Given the description of an element on the screen output the (x, y) to click on. 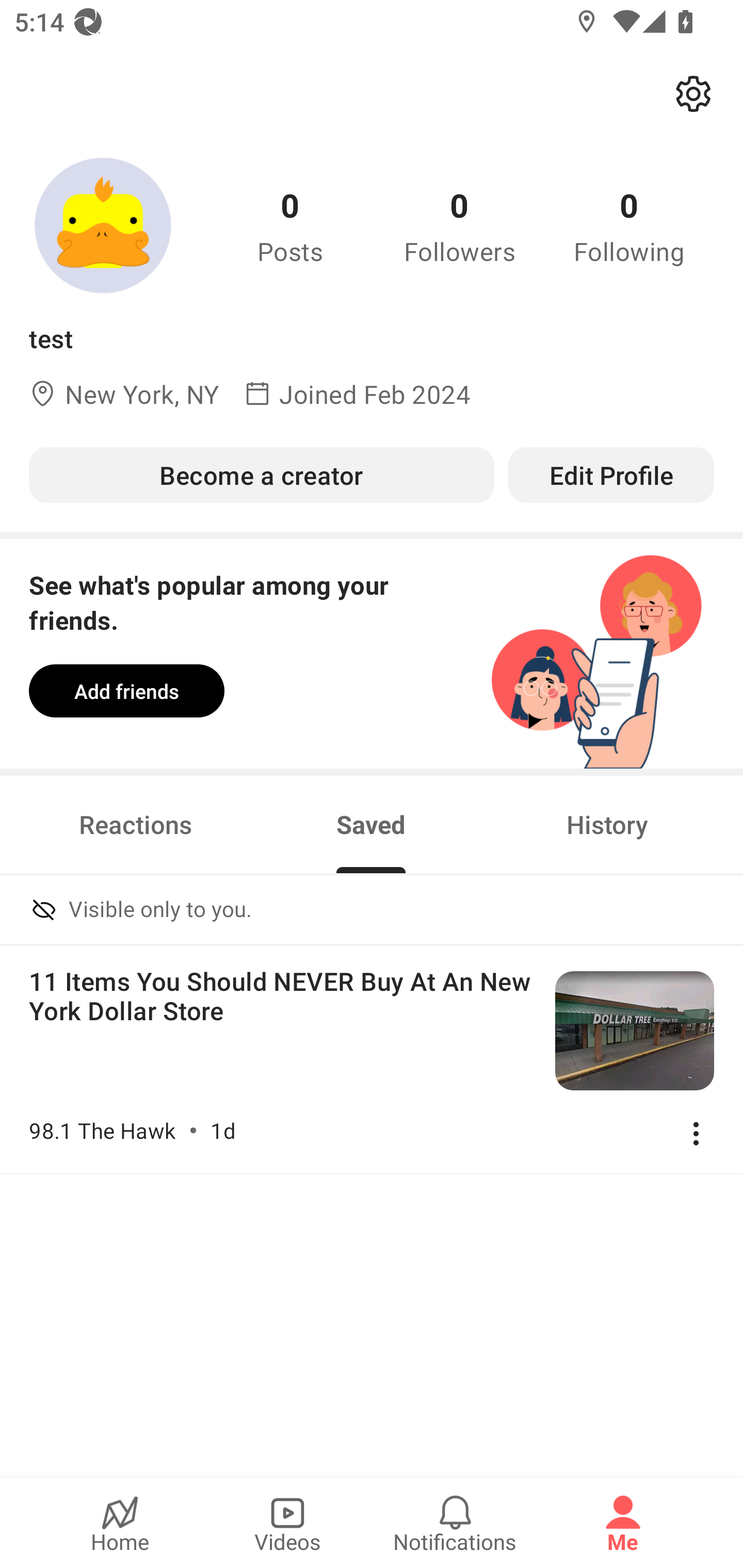
0 Followers (459, 225)
0 Following (629, 225)
Become a creator (261, 474)
Edit Profile (611, 474)
Add friends (126, 691)
Reactions (135, 824)
History (606, 824)
Home (119, 1522)
Videos (287, 1522)
Notifications (455, 1522)
